Given the description of an element on the screen output the (x, y) to click on. 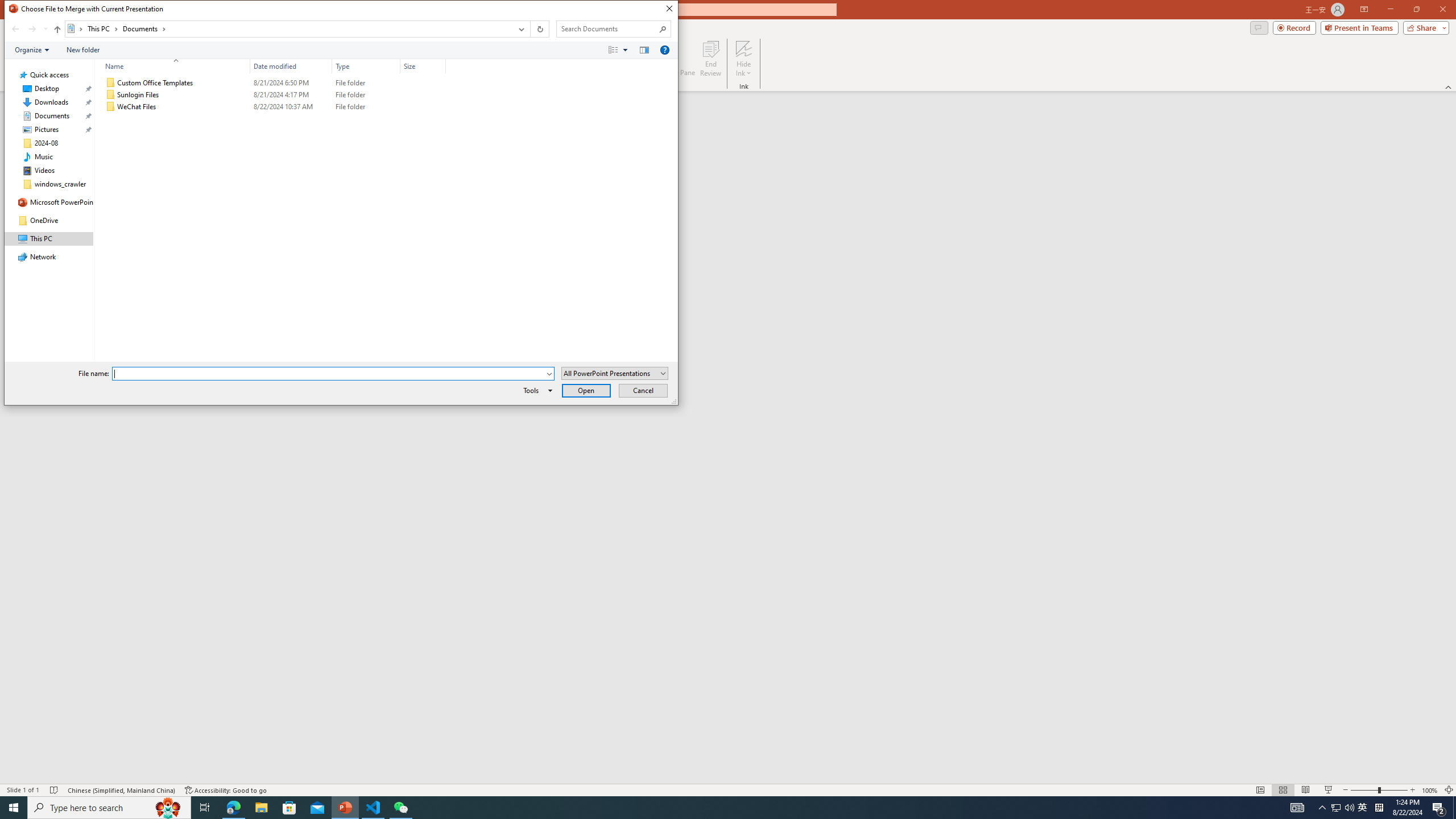
Up to "This PC" (Alt + Up Arrow) (57, 29)
Date modified (290, 65)
Class: UIImage (111, 106)
End Review (710, 58)
WeChat - 1 running window (400, 807)
Filter dropdown (440, 65)
Microsoft Edge - 1 running window (233, 807)
Organize (31, 49)
